Given the description of an element on the screen output the (x, y) to click on. 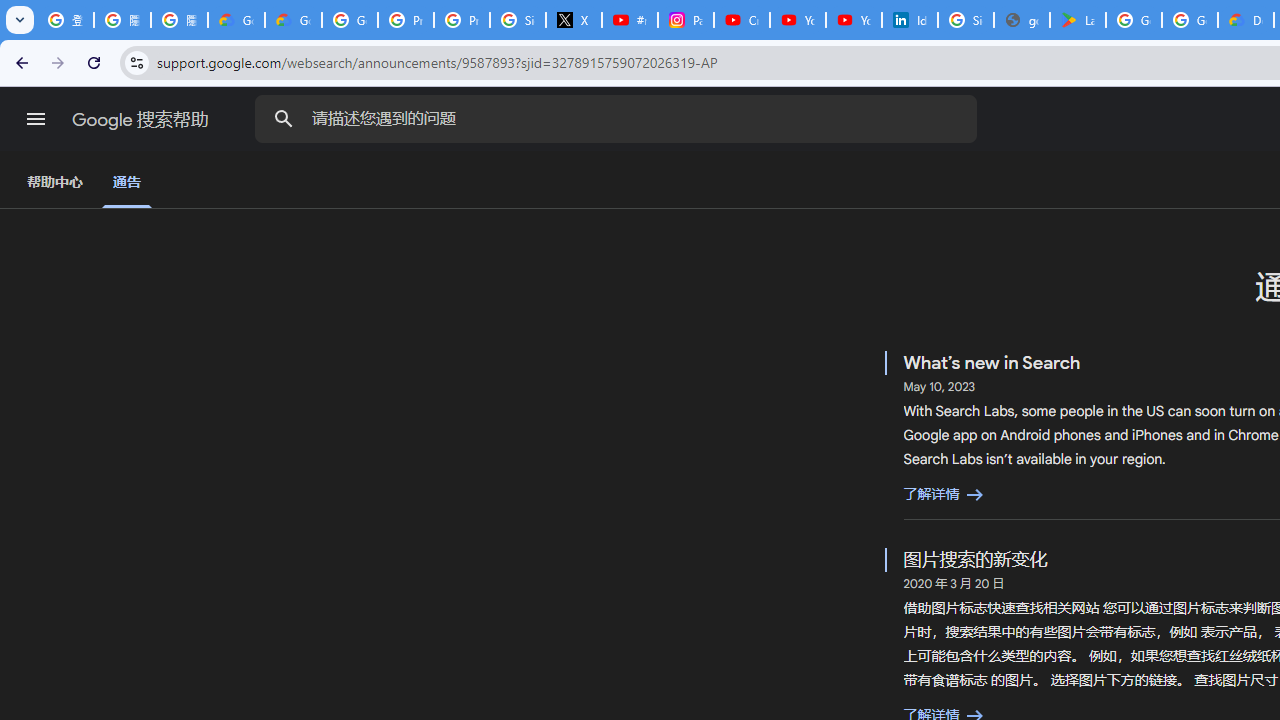
YouTube Culture & Trends - YouTube Top 10, 2021 (853, 20)
